Given the description of an element on the screen output the (x, y) to click on. 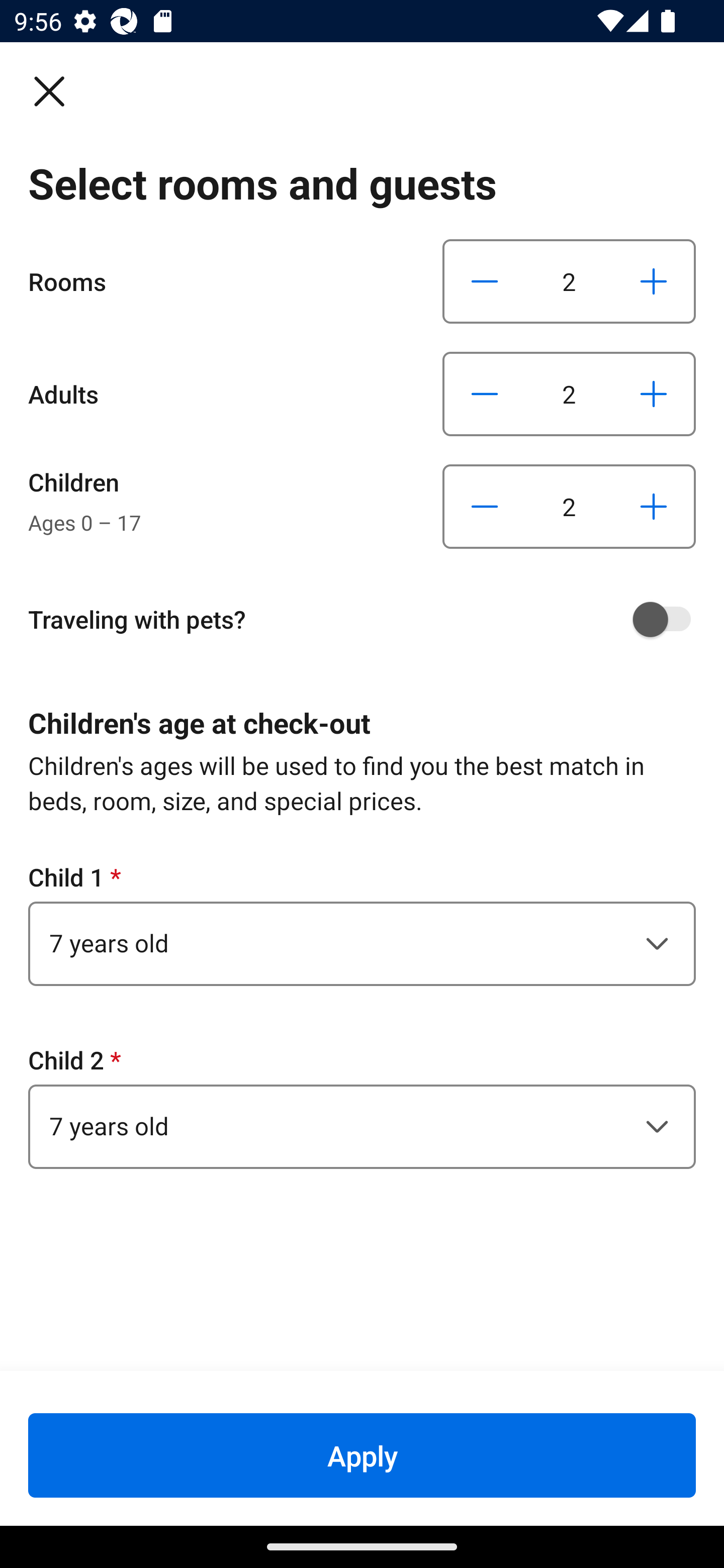
Decrease (484, 281)
Increase (653, 281)
Decrease (484, 393)
Increase (653, 393)
Decrease (484, 506)
Increase (653, 506)
Traveling with pets? (369, 619)
Child 1
required Child 1 * 7 years old (361, 922)
Child 2
required Child 2 * 7 years old (361, 1105)
Apply (361, 1454)
